Given the description of an element on the screen output the (x, y) to click on. 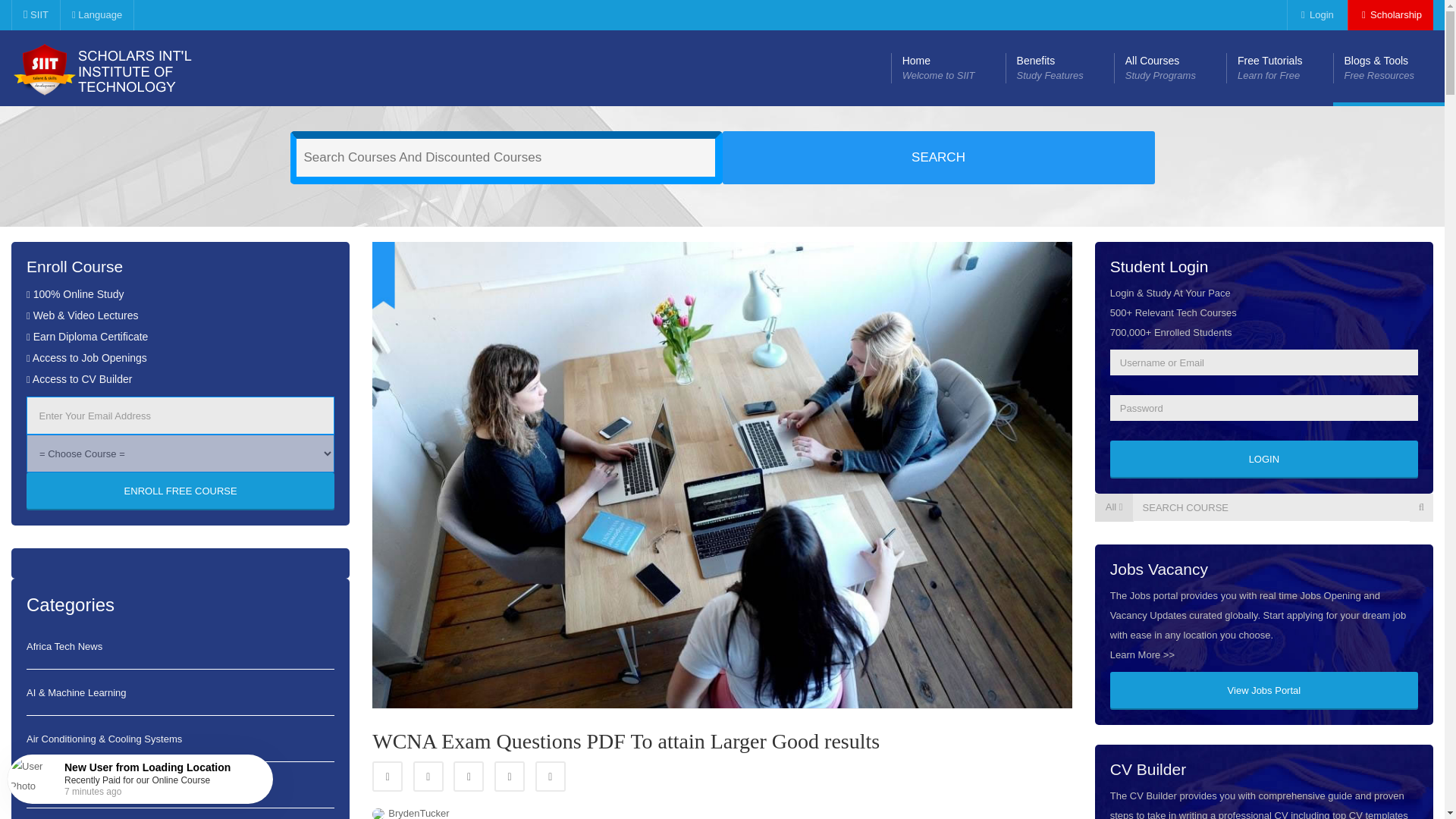
Share on Twitter (428, 776)
Login (1315, 15)
Email this (550, 776)
2024 IT Scholarship (1390, 15)
 LOGIN  (1169, 68)
SIIT - Scholars International Institute Of Technology (1263, 459)
Share on Facebook (124, 67)
Scholarship (387, 776)
View Jobs Portal (1390, 15)
SIIT (1263, 690)
Share on Google Plus (35, 15)
Portal Login (467, 776)
Pin this (1059, 68)
